Given the description of an element on the screen output the (x, y) to click on. 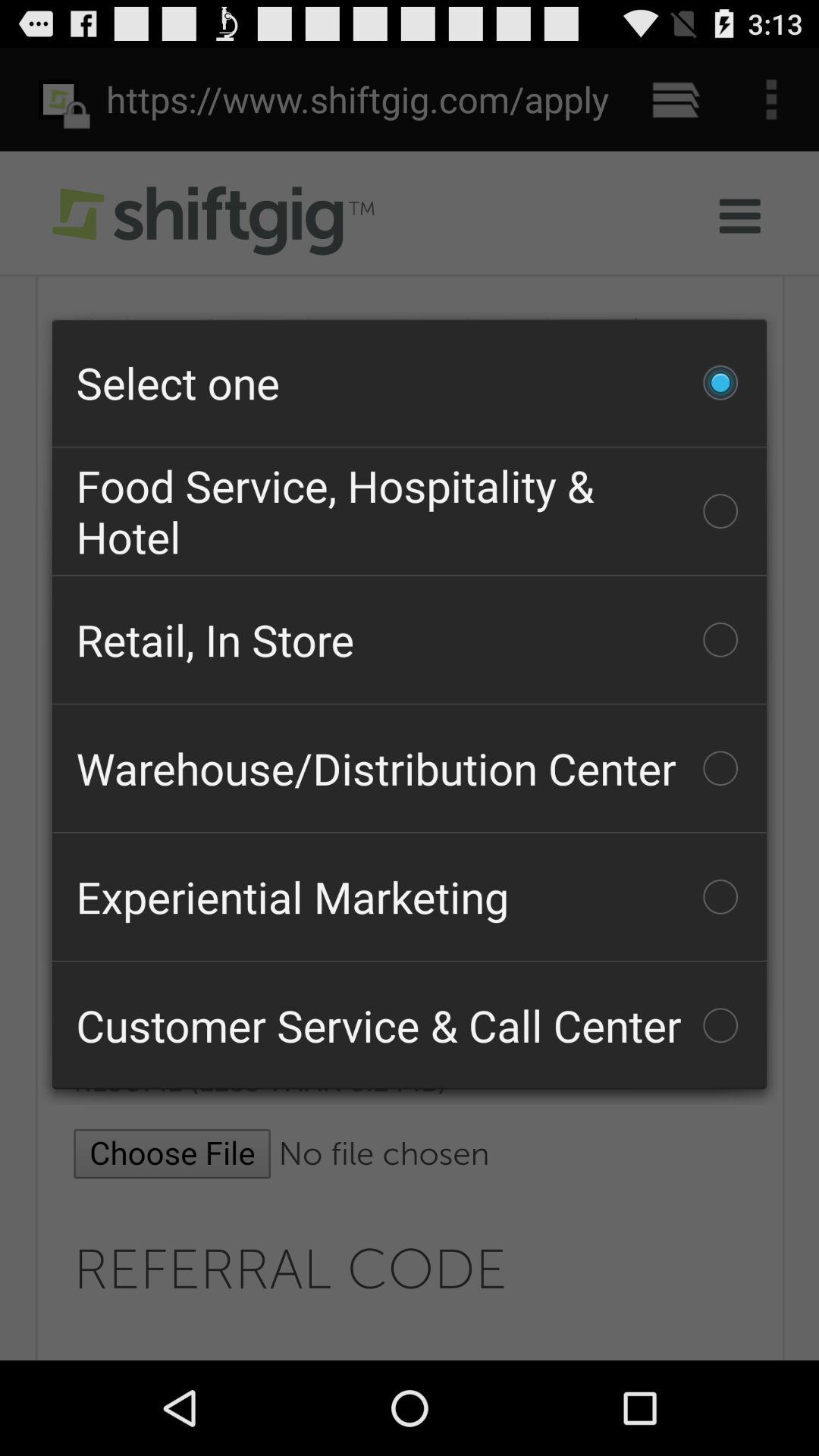
choose item below the warehouse/distribution center item (409, 896)
